Given the description of an element on the screen output the (x, y) to click on. 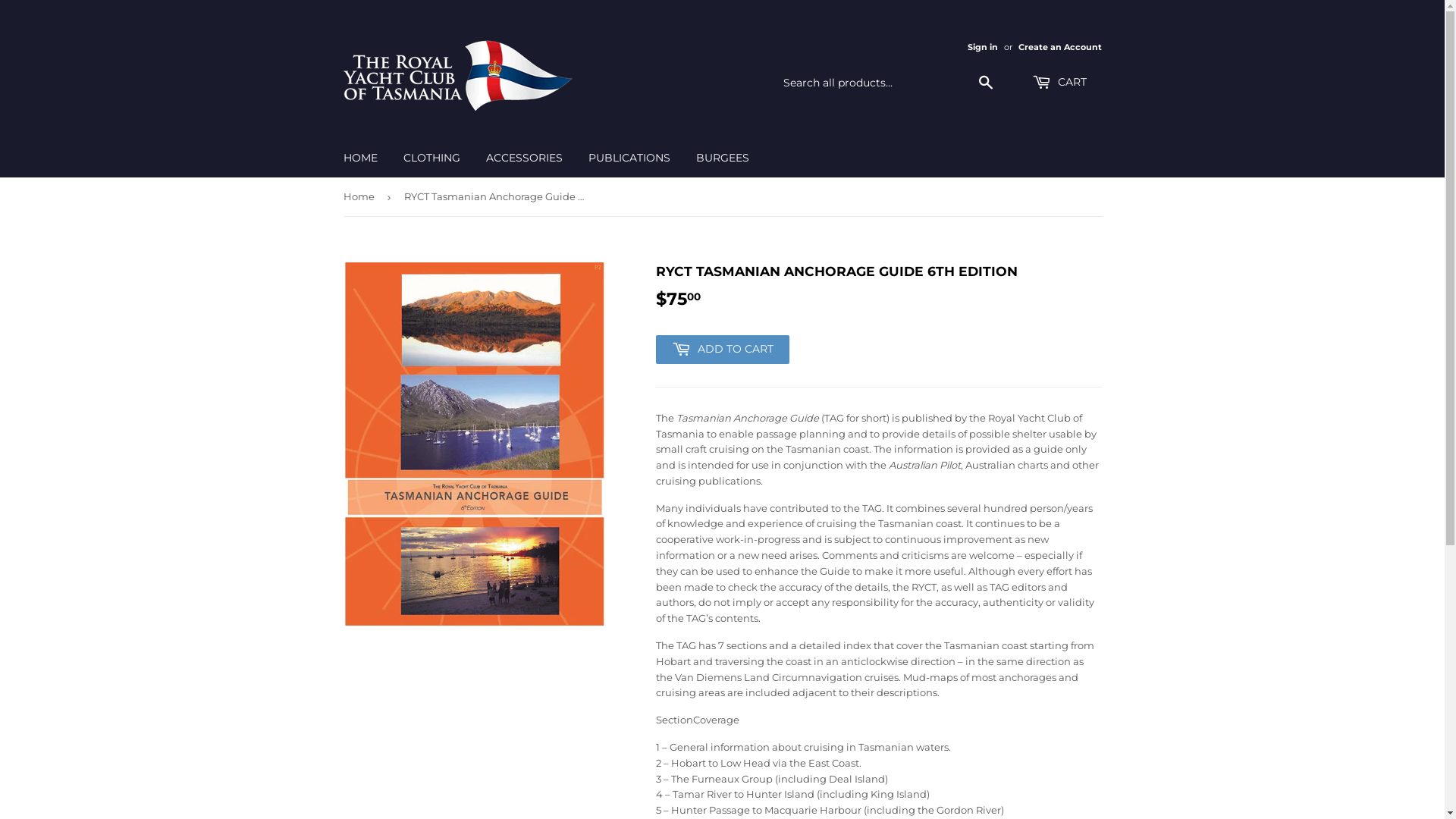
HOME Element type: text (360, 157)
ACCESSORIES Element type: text (524, 157)
Home Element type: text (360, 196)
BURGEES Element type: text (721, 157)
ADD TO CART Element type: text (721, 349)
Sign in Element type: text (982, 46)
CLOTHING Element type: text (430, 157)
PUBLICATIONS Element type: text (628, 157)
Create an Account Element type: text (1059, 46)
Search Element type: text (986, 83)
CART Element type: text (1058, 82)
